Given the description of an element on the screen output the (x, y) to click on. 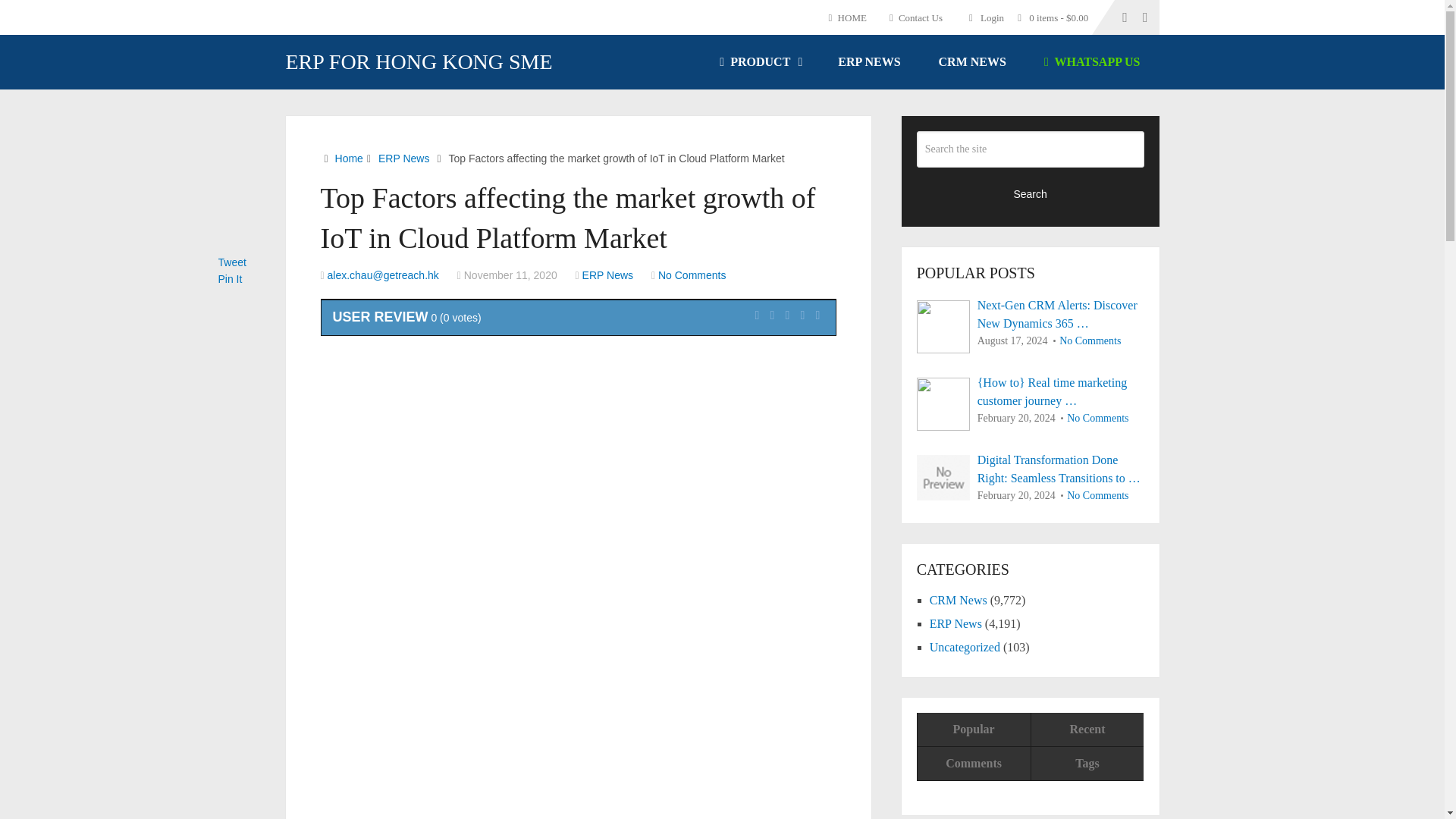
View all posts in ERP News (607, 275)
WHATSAPP US (1091, 62)
Search (1030, 193)
Tweet (232, 262)
ERP News (403, 158)
Home (348, 158)
CRM NEWS (972, 62)
View your shopping cart (1056, 17)
CRM News (958, 599)
ERP News (607, 275)
